Given the description of an element on the screen output the (x, y) to click on. 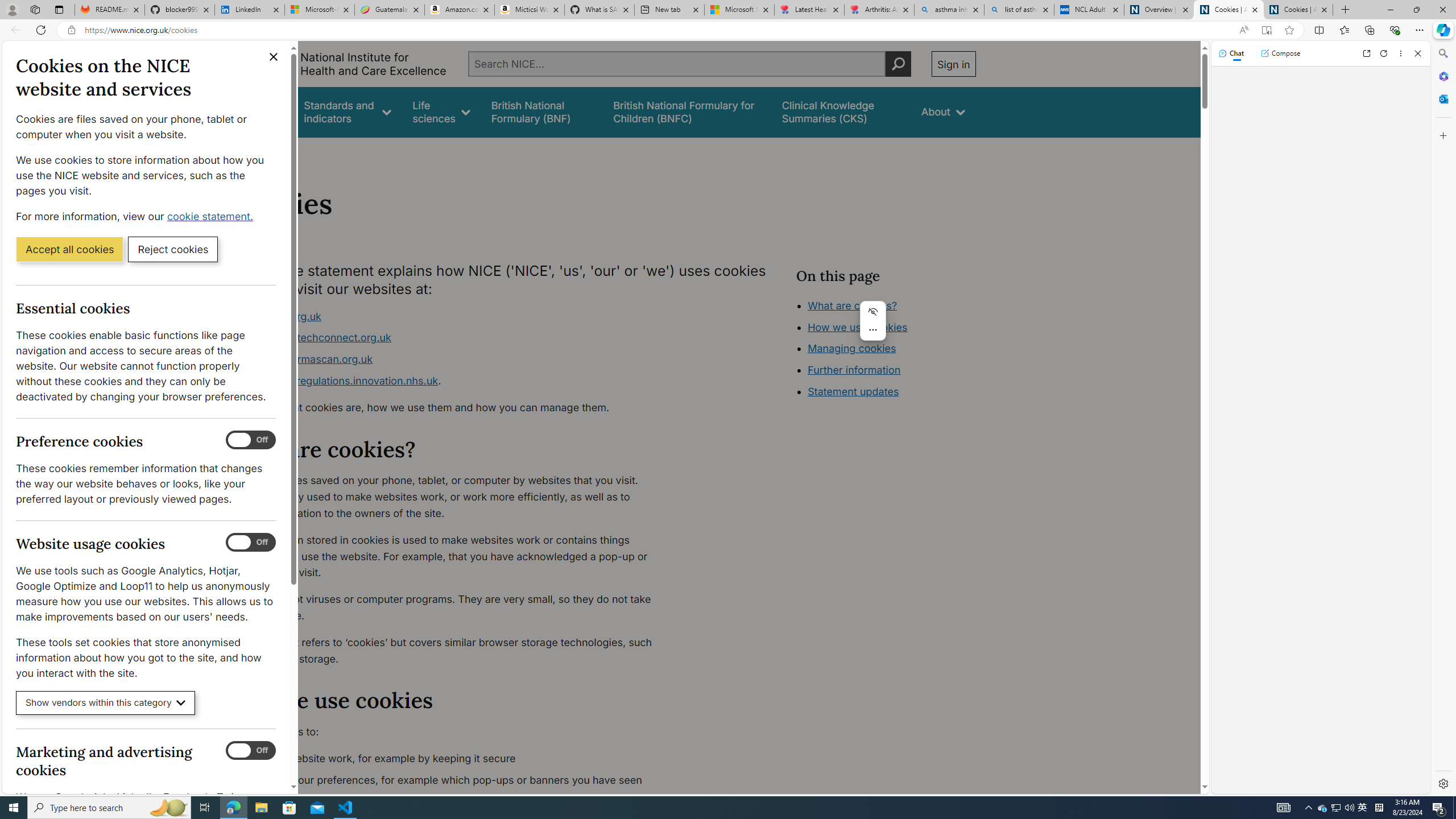
Chat (1231, 52)
Reject cookies (173, 248)
Hide menu (872, 311)
Close Customize pane (1442, 135)
www.digitalregulations.innovation.nhs.uk (338, 380)
About (283, 152)
asthma inhaler - Search (949, 9)
